Given the description of an element on the screen output the (x, y) to click on. 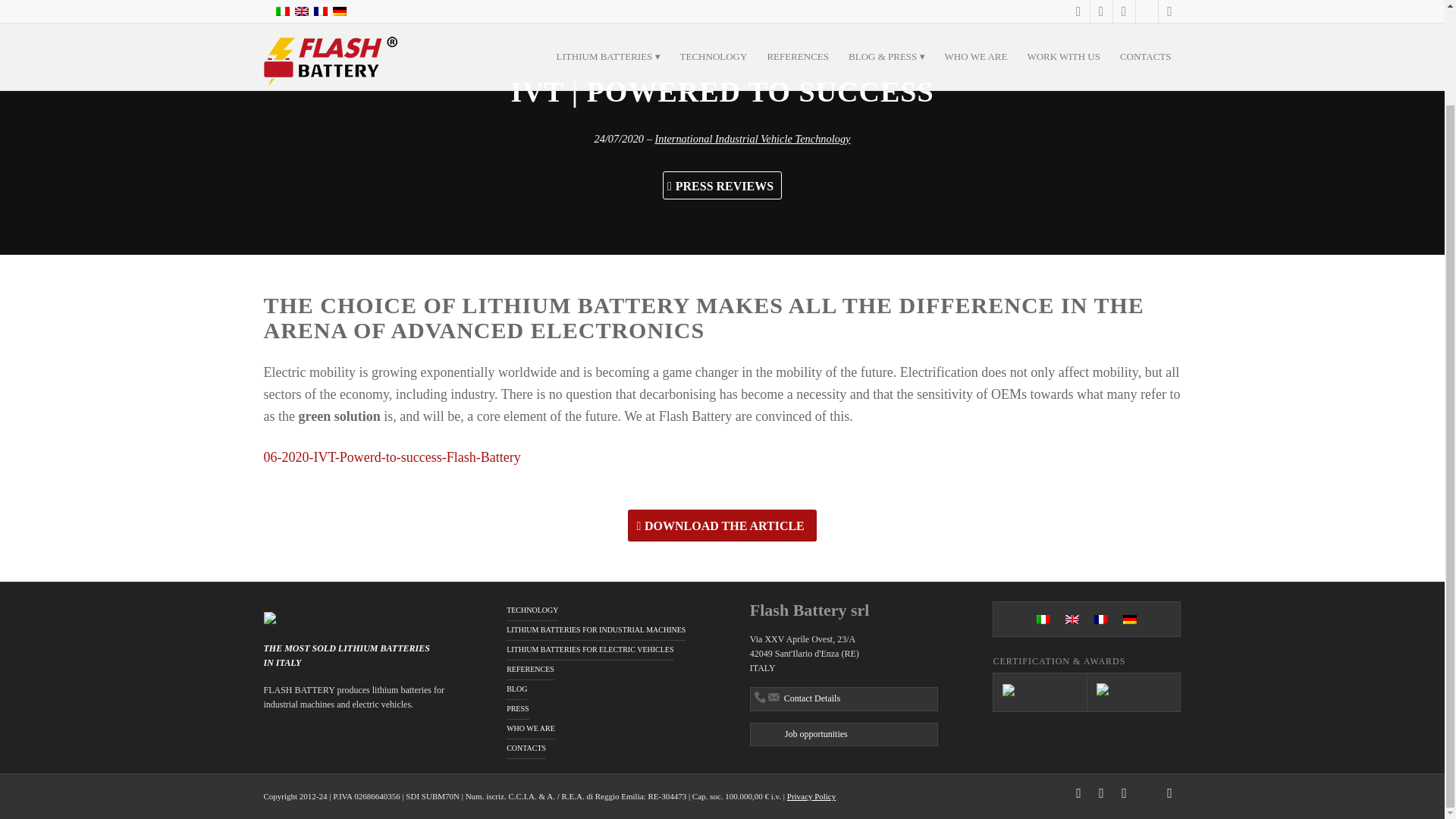
Instagram (1169, 793)
LITHIUM BATTERIES FOR ELECTRIC VEHICLES (589, 650)
LinkedIn (1078, 793)
TECHNOLOGY (531, 610)
BLOG (516, 690)
DOWNLOAD THE ARTICLE (721, 525)
Facebook (1124, 793)
WHO WE ARE (530, 729)
Contact Details (843, 698)
REFERENCES (530, 670)
International Industrial Vehicle Tenchnology (751, 138)
PRESS (517, 709)
06-2020-IVT-Powerd-to-success-Flash-Battery (392, 457)
LITHIUM BATTERIES FOR INDUSTRIAL MACHINES (595, 630)
Twitter (1146, 793)
